Given the description of an element on the screen output the (x, y) to click on. 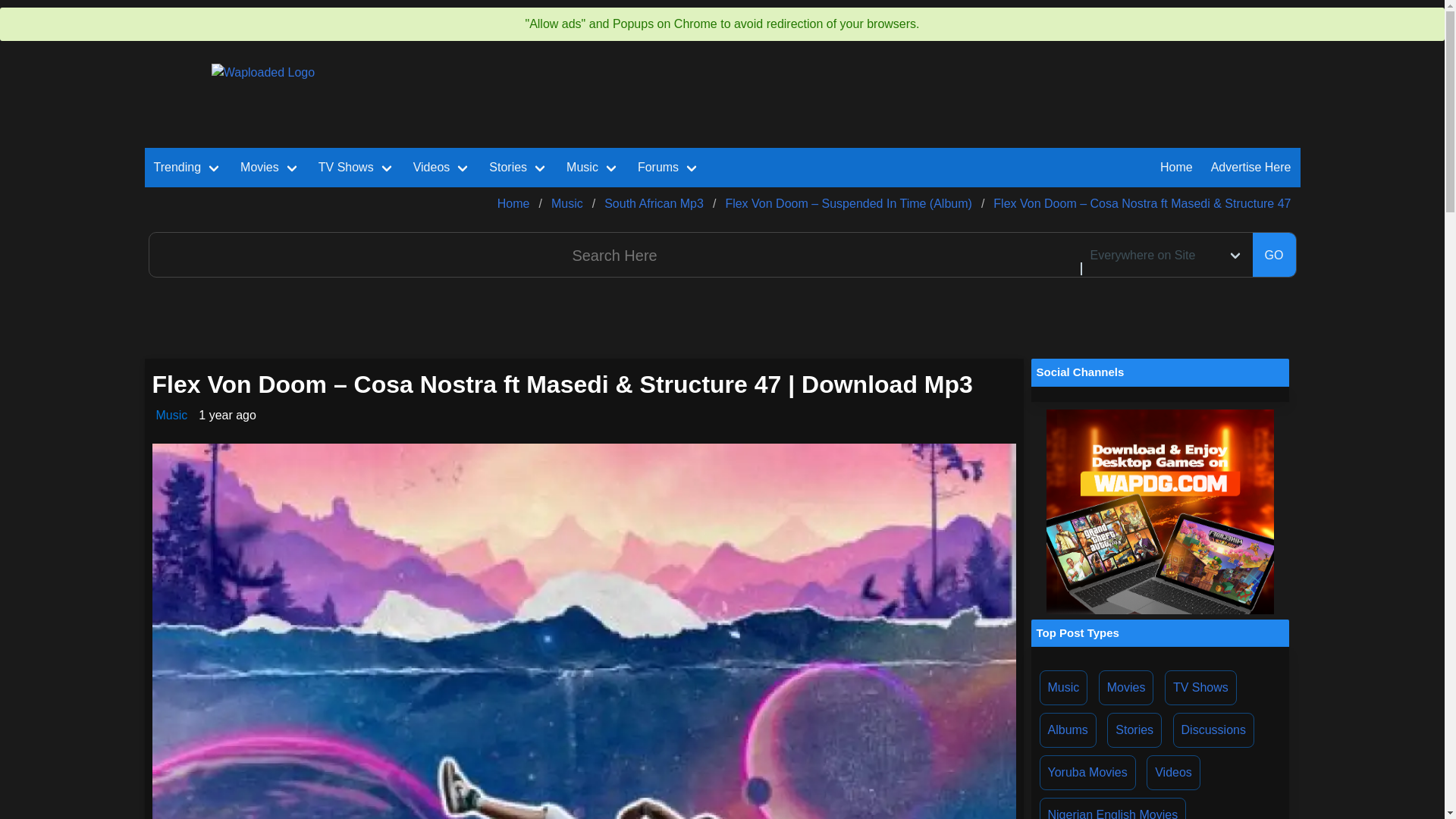
Latest Stories (1133, 729)
Latest Albums (1067, 729)
Latest Music (1063, 687)
Latest TV Shows (1200, 687)
Movies (269, 167)
Latest Yoruba Movies (1087, 772)
TV Shows (356, 167)
